Given the description of an element on the screen output the (x, y) to click on. 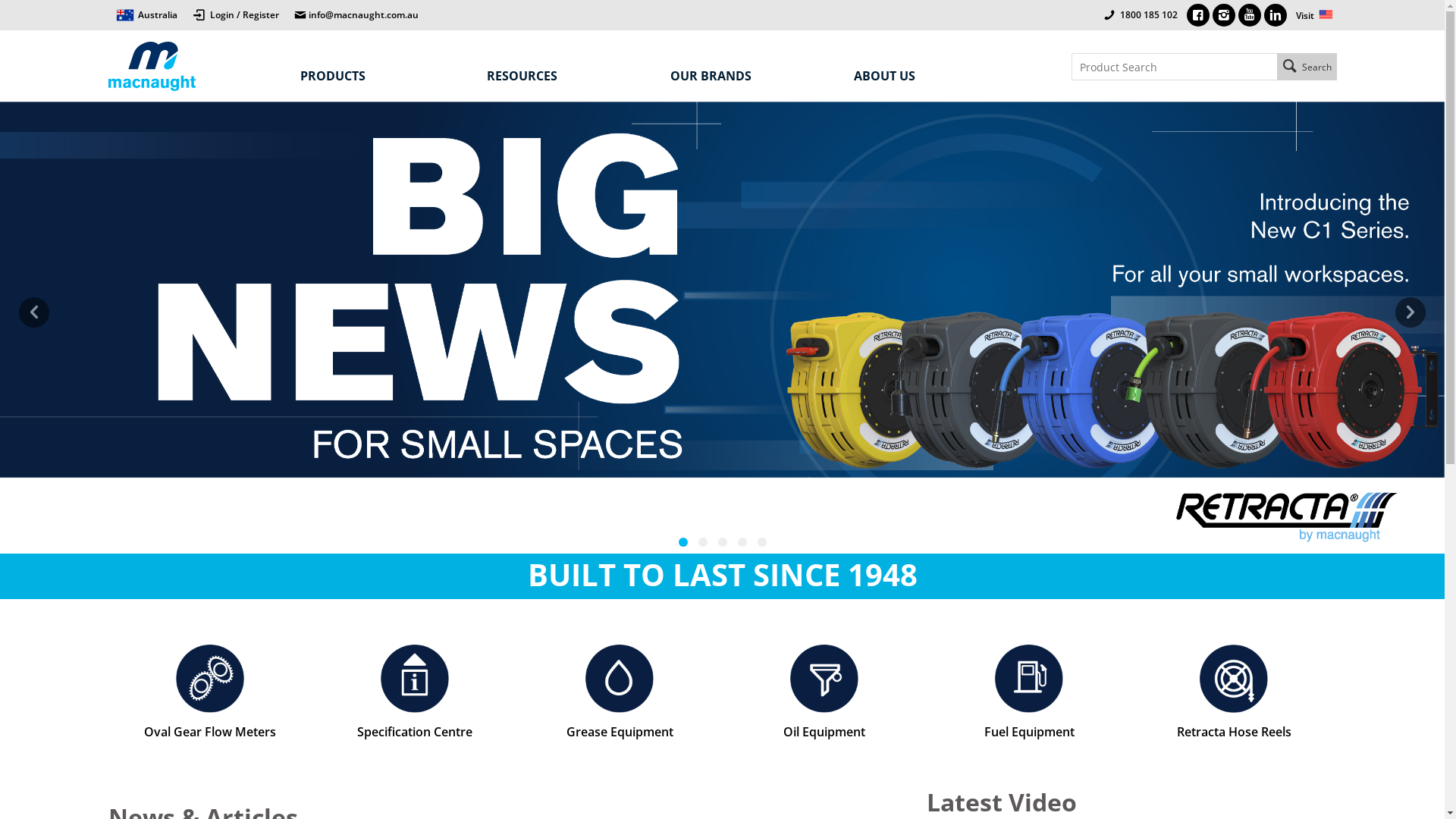
Oil Equipment Element type: text (823, 692)
info@macnaught.com.au Element type: text (356, 15)
1800 185 102 Element type: text (1147, 14)
Facebook Element type: hover (1197, 14)
LinkedIn Element type: hover (1275, 14)
PRODUCTS Element type: text (380, 75)
YouTube Element type: hover (1249, 14)
Retracta Hose Reels Element type: text (1233, 692)
Specification Centre Element type: text (414, 692)
Australia Element type: text (145, 15)
Oval Gear Flow Meters Element type: text (209, 692)
Instagram Element type: hover (1223, 14)
Visit Element type: text (1312, 15)
Fuel Equipment Element type: text (1028, 692)
ABOUT US Element type: text (930, 75)
RESOURCES Element type: text (563, 75)
OUR BRANDS Element type: text (746, 75)
Search Element type: text (1306, 66)
Login / Register Element type: text (235, 12)
Grease Equipment Element type: text (619, 692)
